Given the description of an element on the screen output the (x, y) to click on. 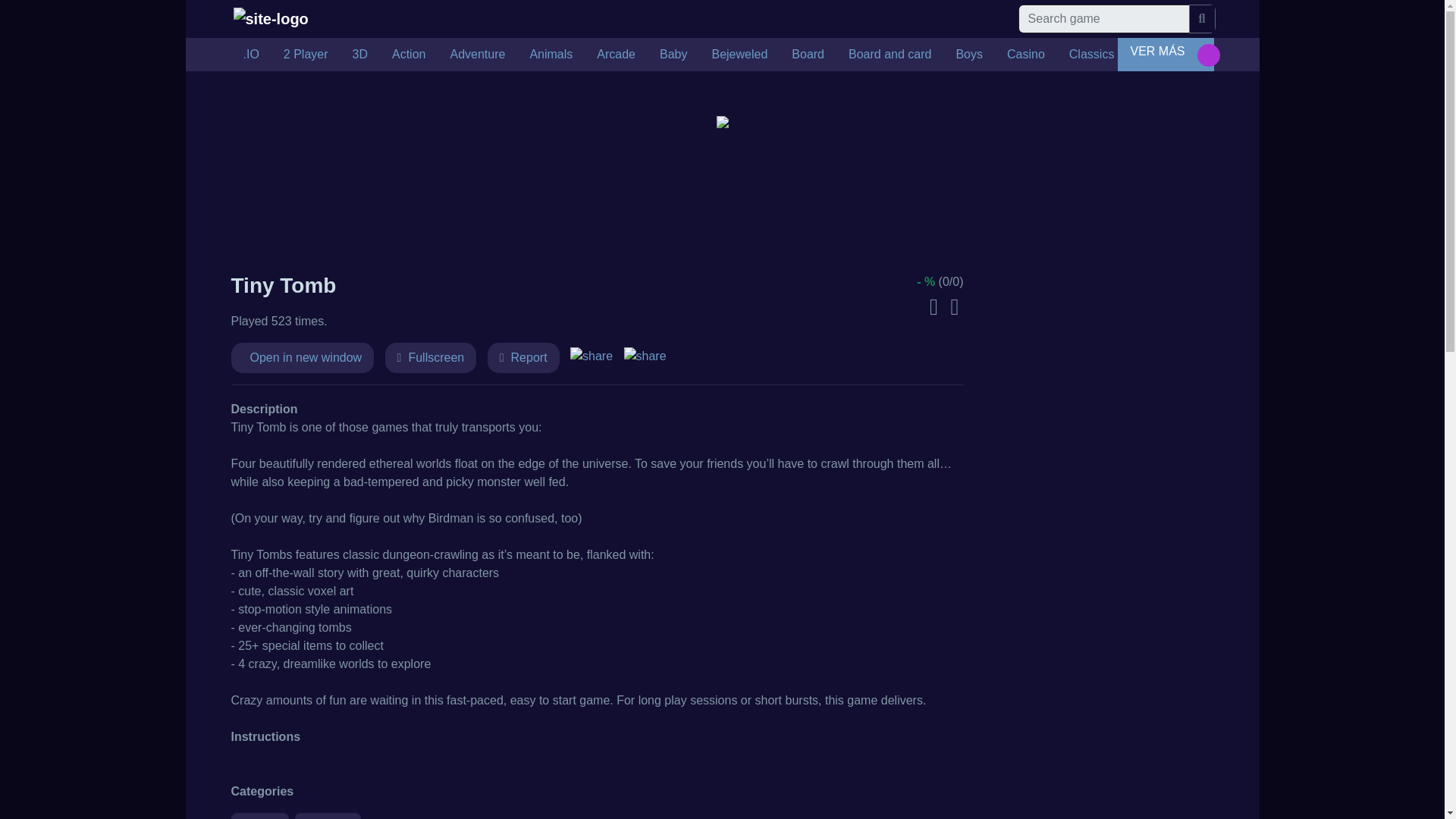
Arcade (616, 54)
2 Player (305, 54)
Adventure (477, 54)
3D (360, 54)
Board and card (889, 54)
Board (806, 54)
Boys (968, 54)
Classics (1091, 54)
Casino (1025, 54)
Baby (672, 54)
Bejeweled (738, 54)
Animals (550, 54)
Action (409, 54)
.IO (250, 54)
